Given the description of an element on the screen output the (x, y) to click on. 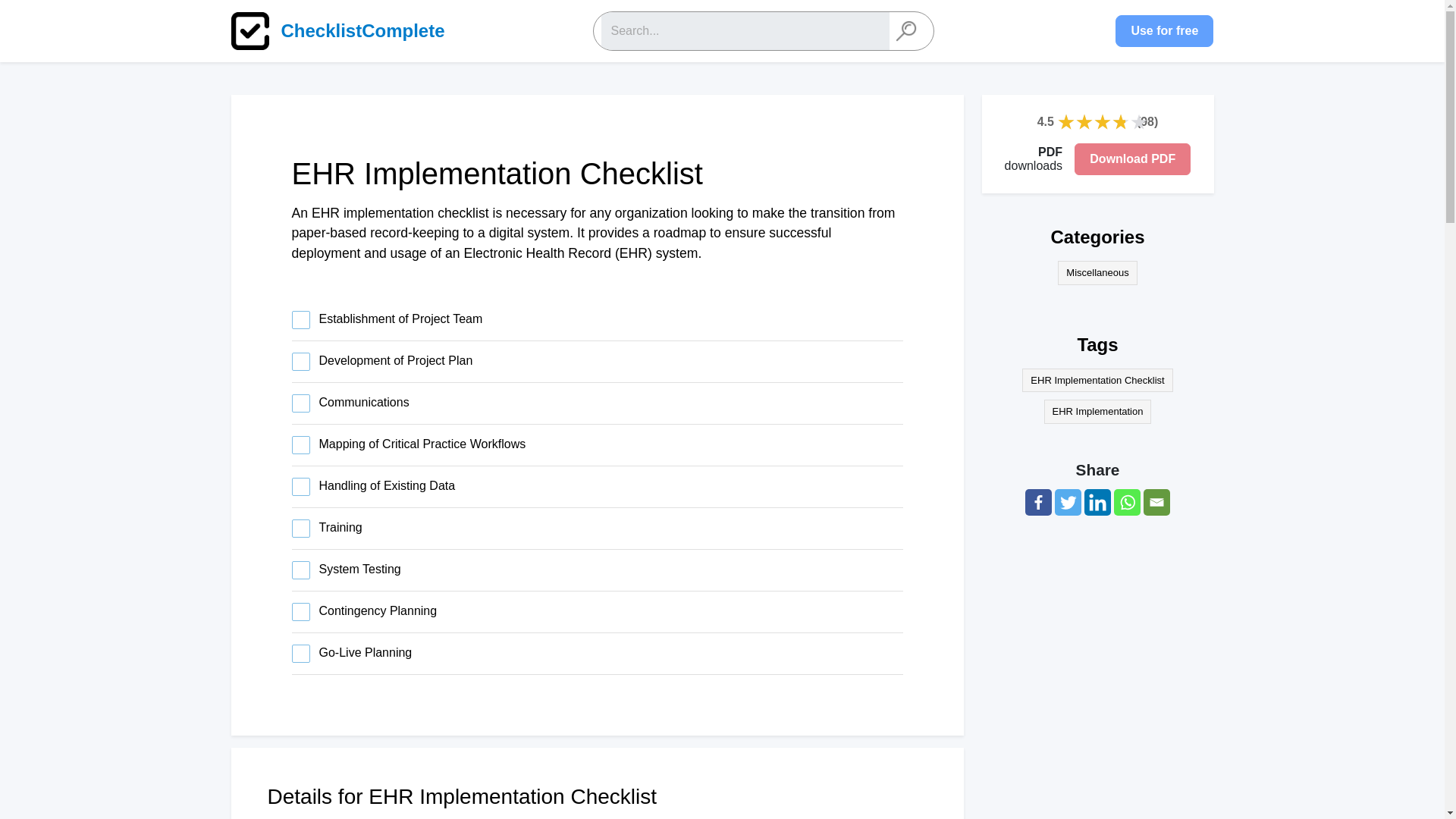
EHR Implementation Checklist (1097, 380)
ChecklistComplete (346, 30)
Email (1156, 501)
Download PDF (1132, 159)
Whatsapp (1126, 501)
EHR Implementation (1097, 411)
Twitter (1067, 501)
Miscellaneous (1097, 273)
Facebook (1038, 501)
Use for free (1163, 30)
Linkedin (1097, 501)
